Given the description of an element on the screen output the (x, y) to click on. 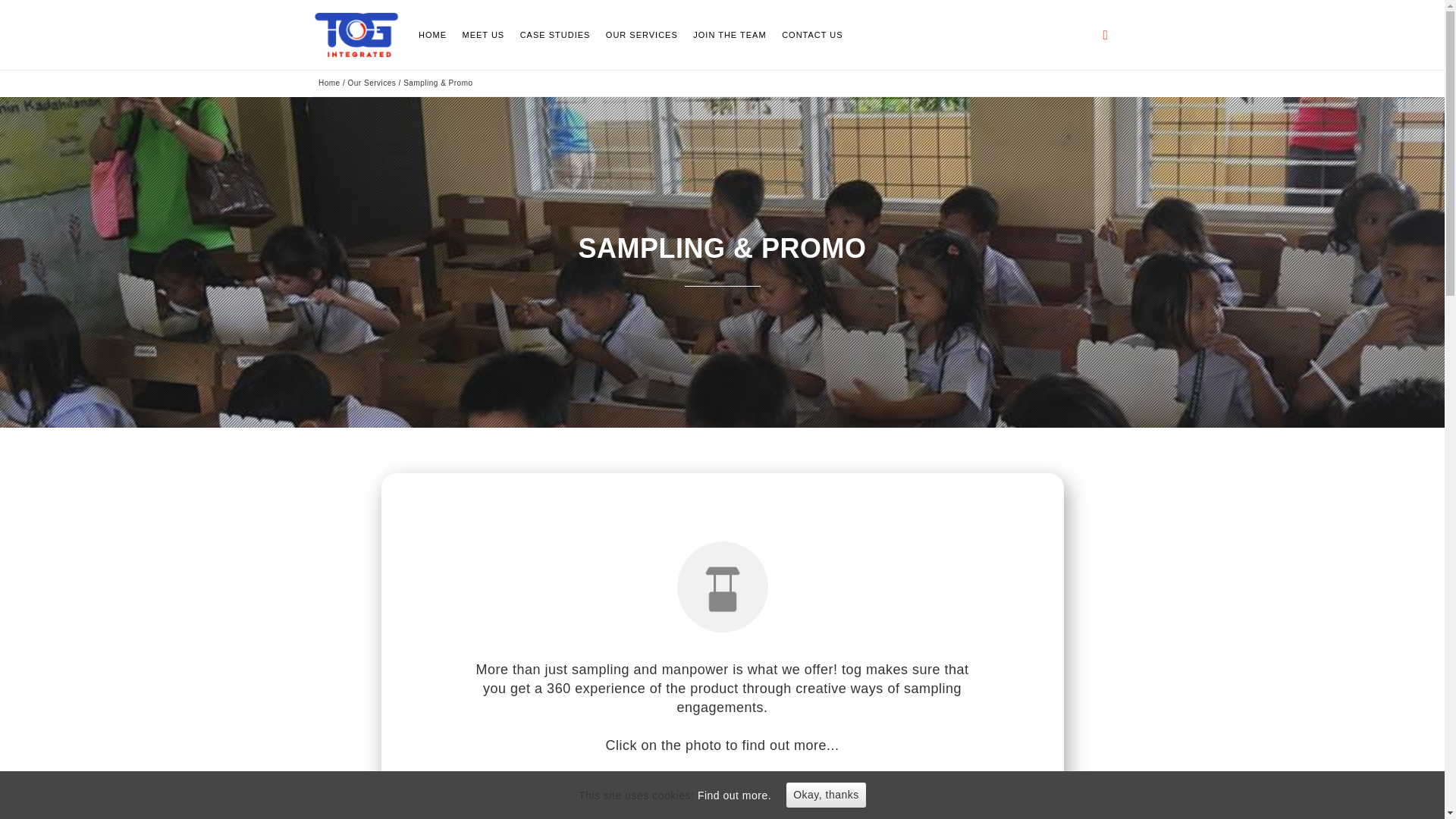
CASE STUDIES (555, 34)
CONTACT US (812, 34)
JOIN THE TEAM (729, 34)
Home (329, 82)
OUR SERVICES (641, 34)
